Given the description of an element on the screen output the (x, y) to click on. 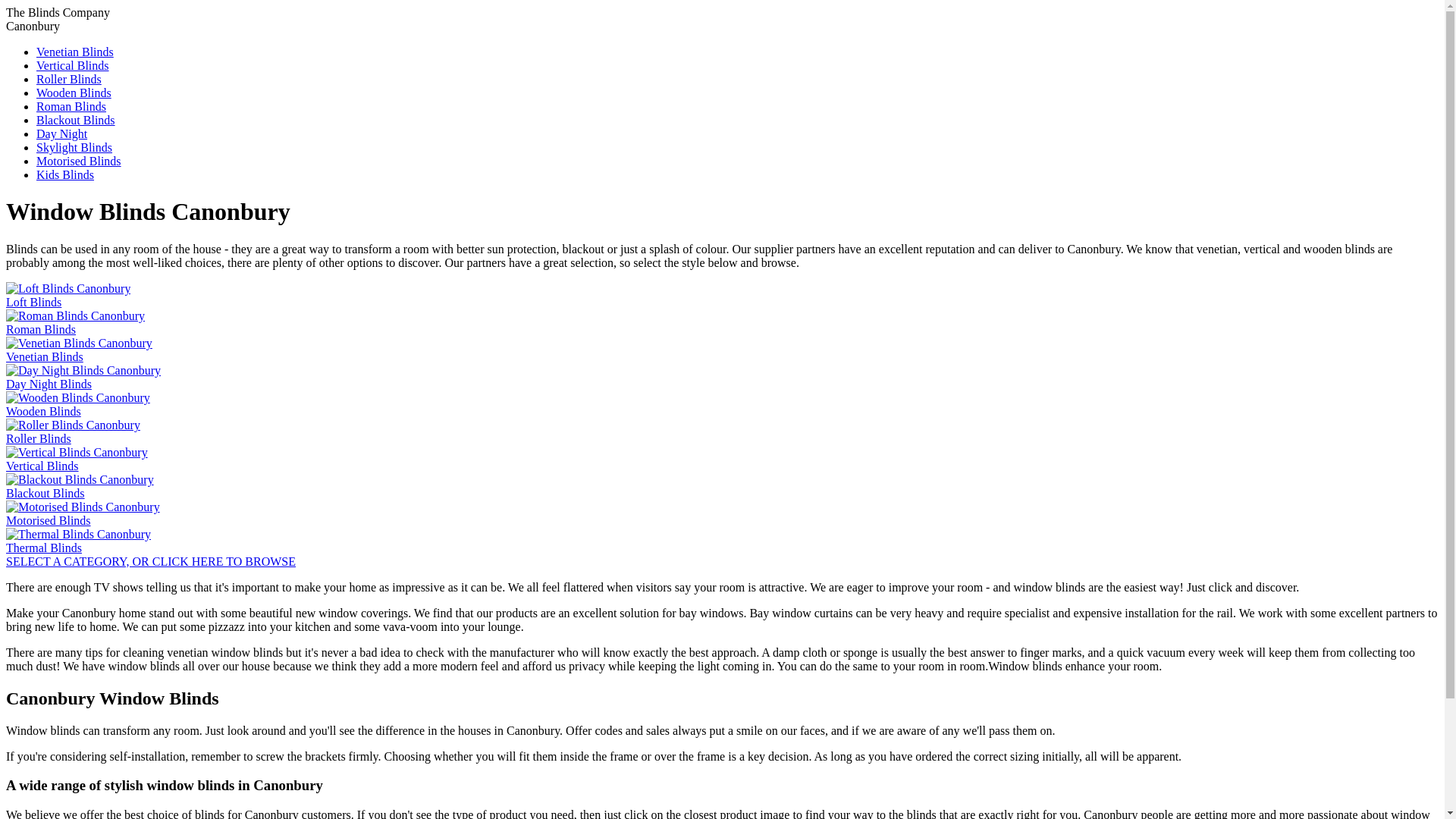
Wooden Blinds (74, 92)
Venetian Blinds (74, 51)
Roller Blinds Canonbury (68, 78)
Roman Blinds (71, 106)
Skylight Blinds (74, 146)
Roller Blinds (68, 78)
Wooden Blinds Canonbury (74, 92)
Roman Blinds (74, 322)
SELECT A CATEGORY, OR CLICK HERE TO BROWSE (150, 561)
Roman Blinds Canonbury (71, 106)
Roller Blinds (72, 431)
Day Night Blinds (82, 376)
Motorised Blinds Canonbury (78, 160)
Vertical Blinds (76, 458)
Vertical Blinds Canonbury (72, 65)
